Given the description of an element on the screen output the (x, y) to click on. 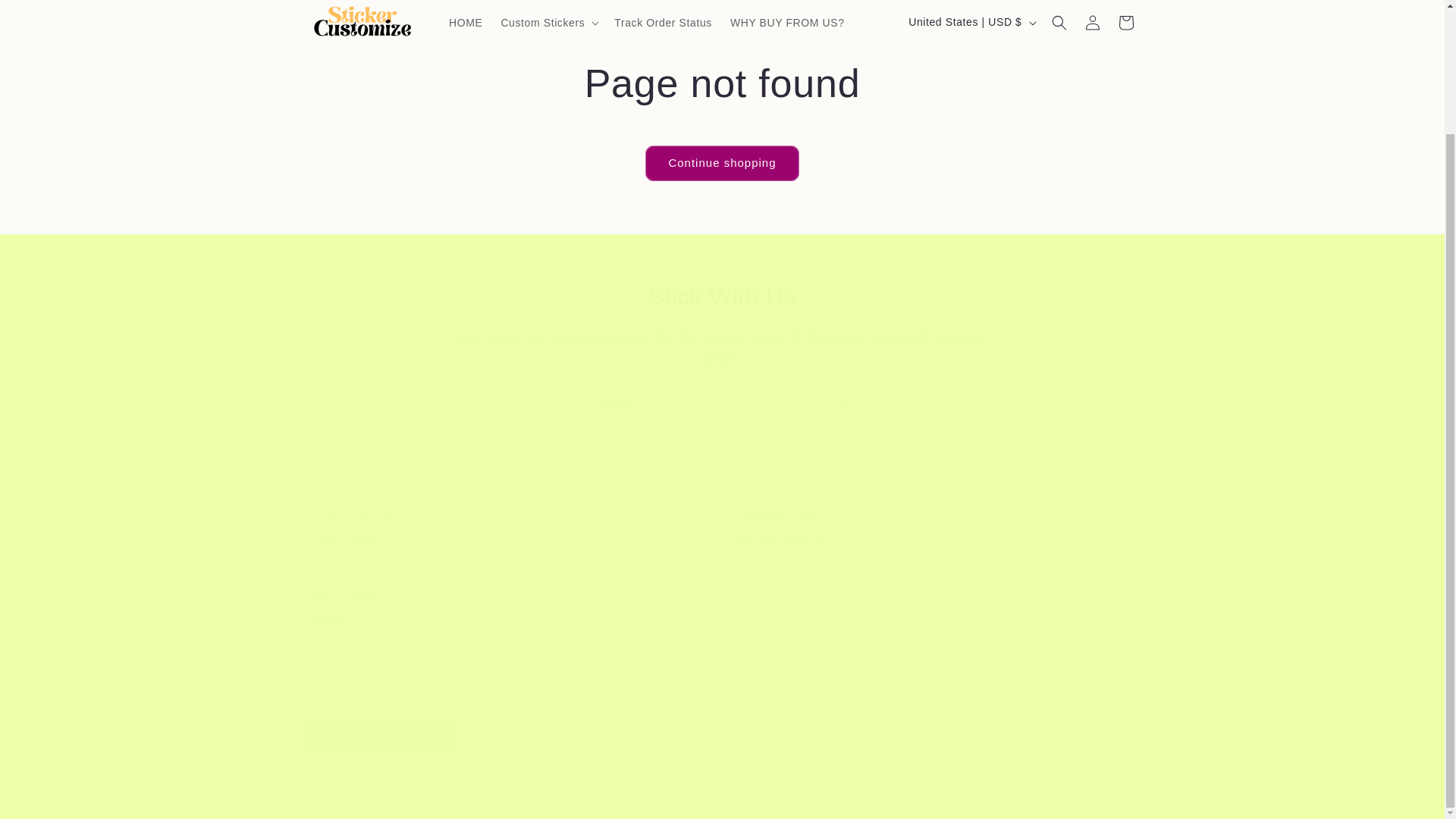
Track Order Status (785, 566)
Contact Us (764, 488)
Privacy Policy (340, 540)
About Us (328, 488)
Warranty Policy (777, 513)
Shipping Policy (344, 566)
Stick With Us (721, 297)
Continue shopping (721, 162)
Refund Policy (339, 592)
Terms of Service (347, 513)
Email (722, 403)
